Given the description of an element on the screen output the (x, y) to click on. 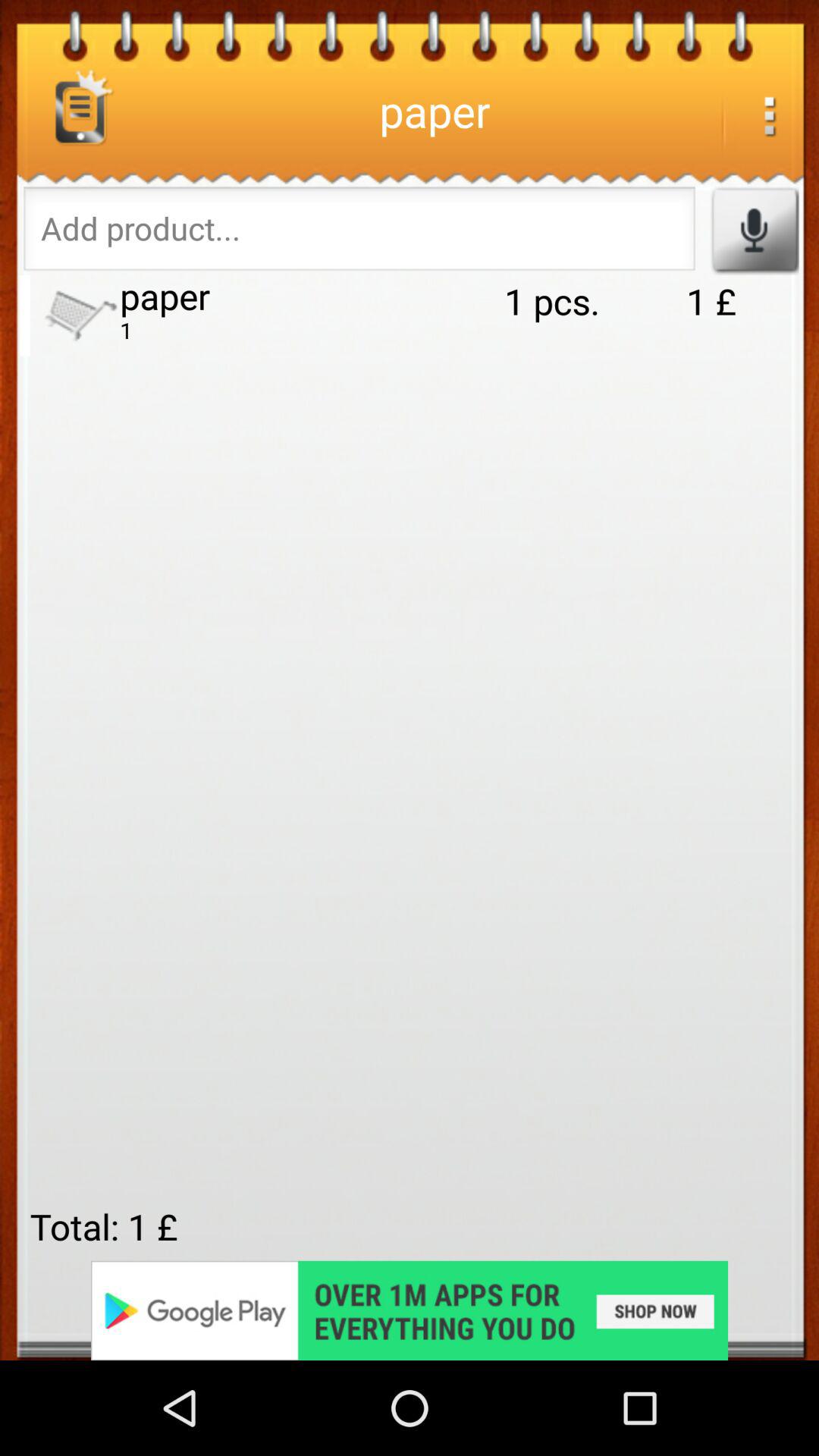
turn on voice search (754, 230)
